Given the description of an element on the screen output the (x, y) to click on. 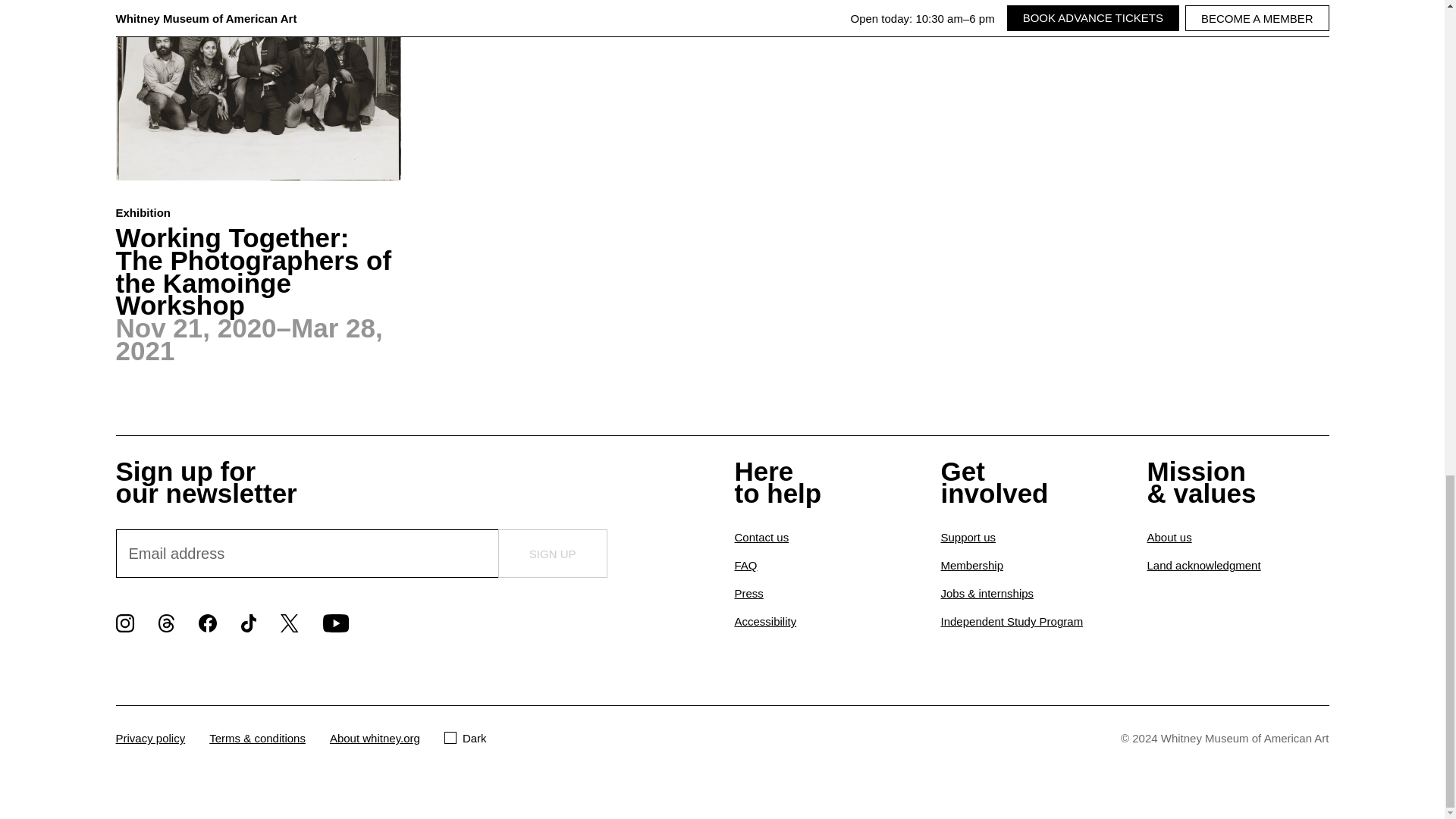
Sign up (552, 553)
on (450, 737)
